Given the description of an element on the screen output the (x, y) to click on. 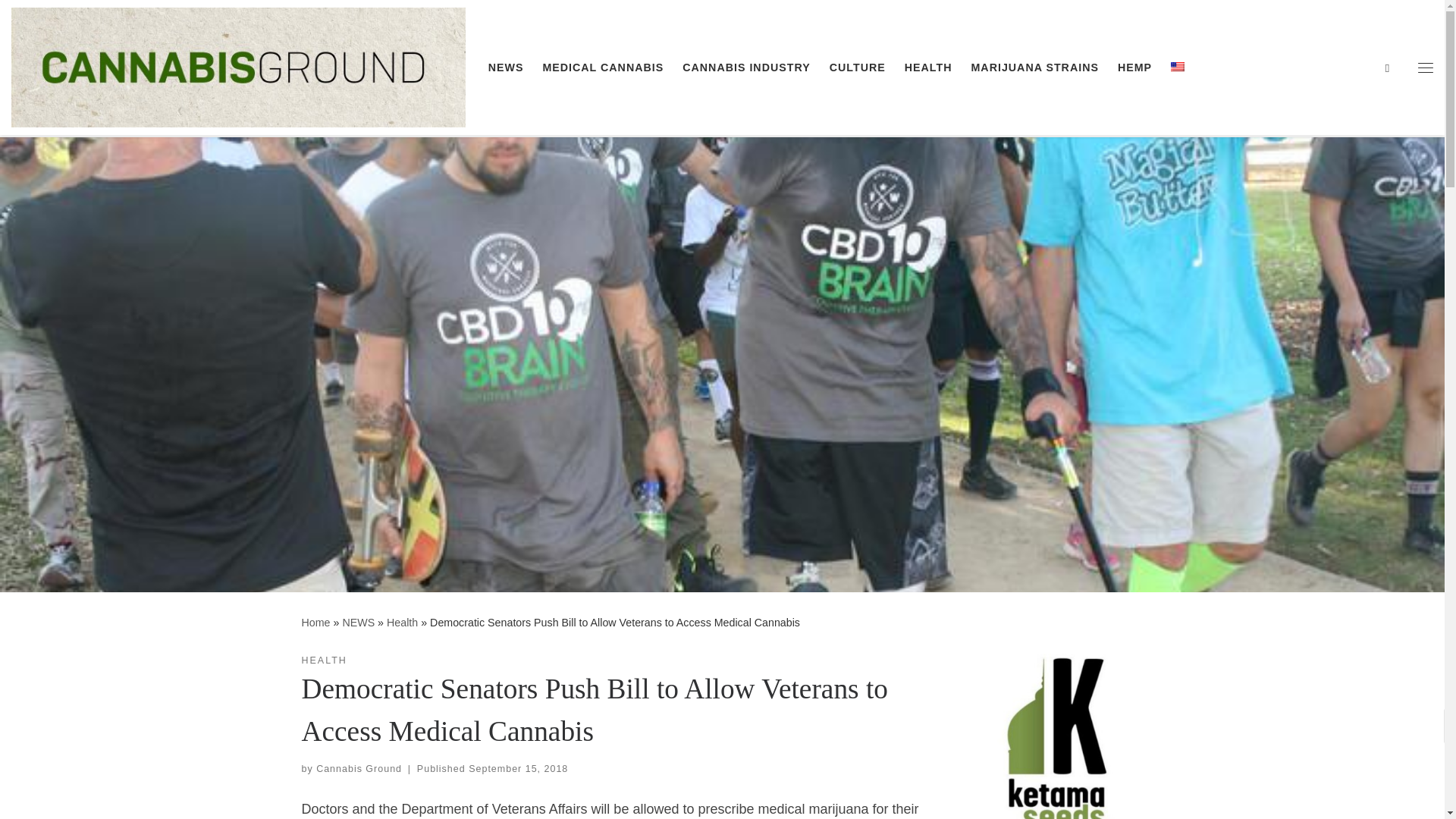
HEMP (1135, 67)
Skip to content (60, 20)
View all posts in Health (324, 660)
NEWS (358, 622)
NEWS (505, 67)
HEALTH (927, 67)
Cannabis Ground (315, 622)
MEDICAL CANNABIS (602, 67)
MARIJUANA STRAINS (1034, 67)
CANNABIS INDUSTRY (746, 67)
